Given the description of an element on the screen output the (x, y) to click on. 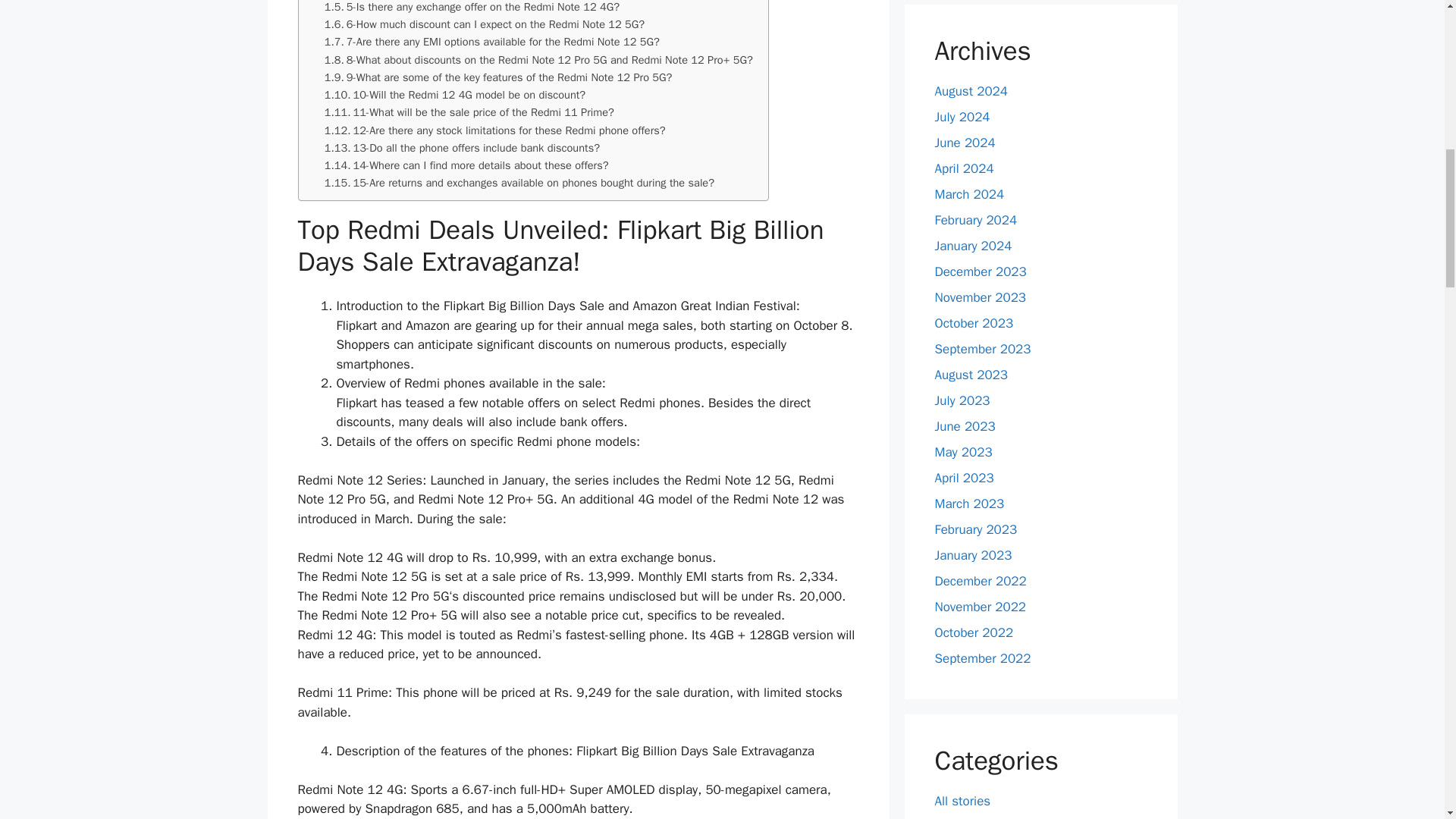
6-How much discount can I expect on the Redmi Note 12 5G? (484, 24)
5-Is there any exchange offer on the Redmi Note 12 4G? (472, 7)
6-How much discount can I expect on the Redmi Note 12 5G? (484, 24)
5-Is there any exchange offer on the Redmi Note 12 4G? (472, 7)
11-What will be the sale price of the Redmi 11 Prime? (469, 112)
10-Will the Redmi 12 4G model be on discount? (454, 95)
